Given the description of an element on the screen output the (x, y) to click on. 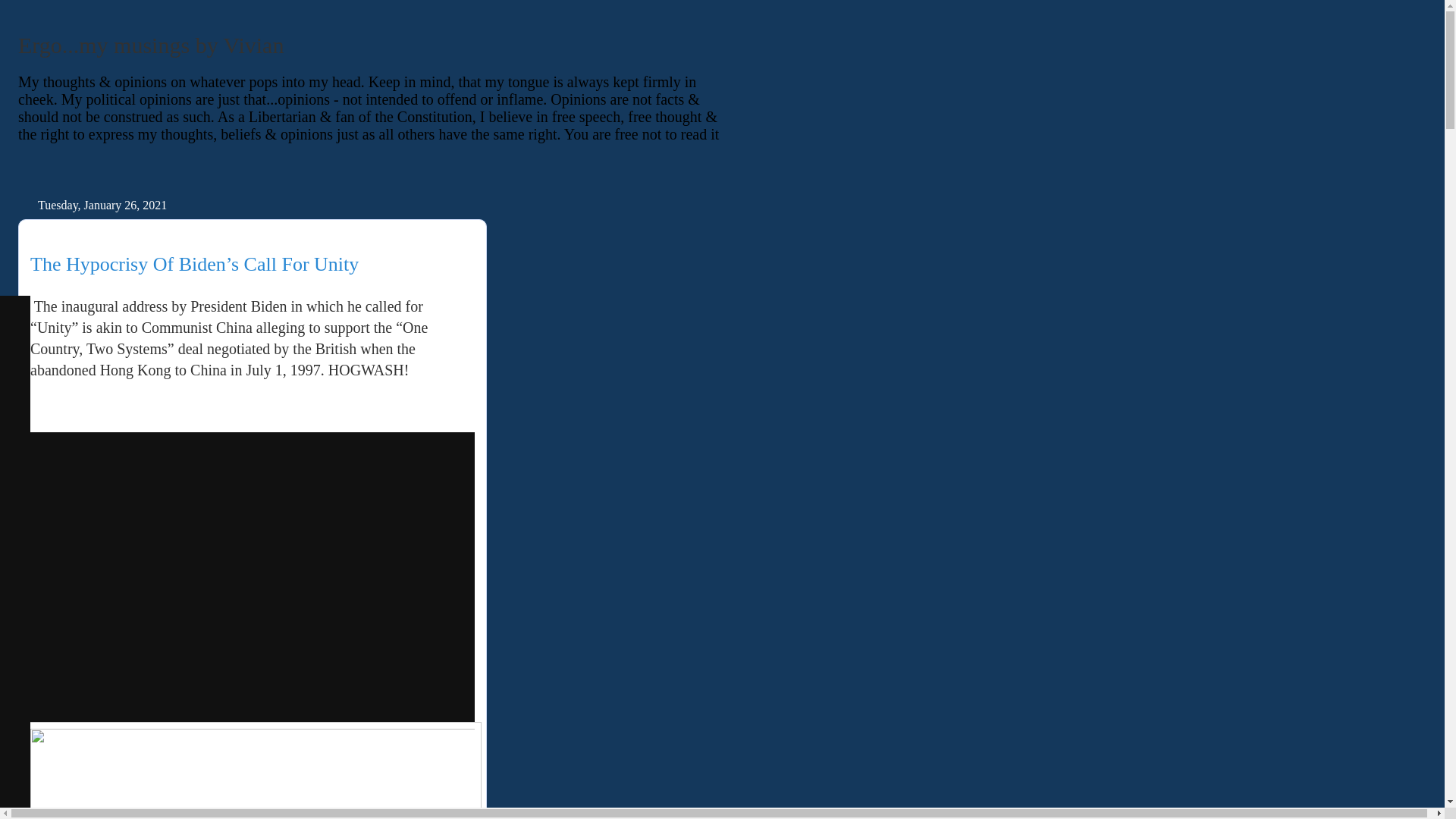
Ergo...my musings by Vivian (150, 44)
